Given the description of an element on the screen output the (x, y) to click on. 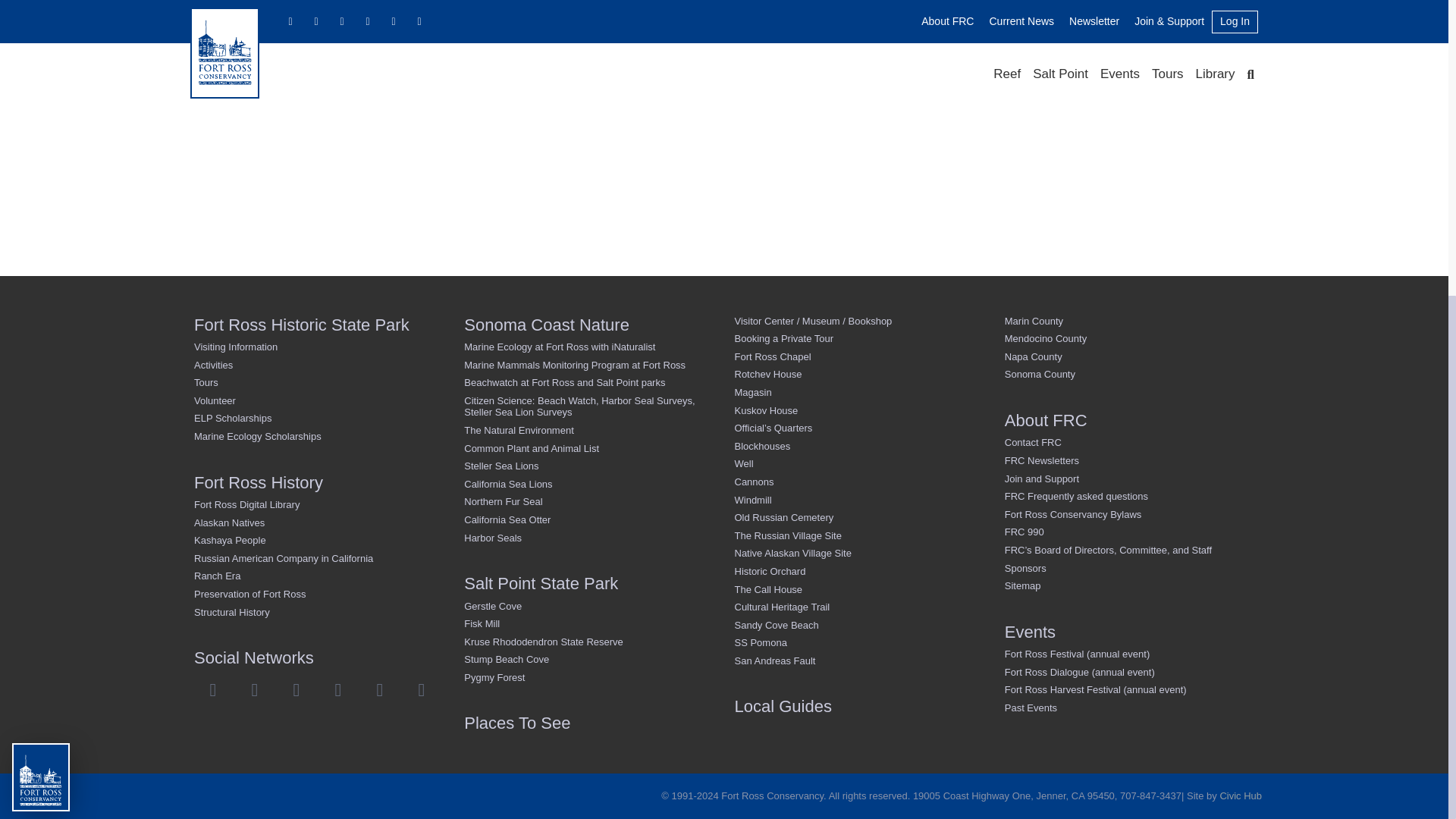
Home page (727, 41)
Structural History (322, 611)
Volunteer (322, 401)
Tours (322, 382)
Fort Ross History (322, 483)
Alaskan Natives (322, 523)
Ranch Era (322, 576)
Fort Ross Historic State Park (322, 325)
Russian American Company in California (322, 558)
Visiting Information (322, 347)
